Given the description of an element on the screen output the (x, y) to click on. 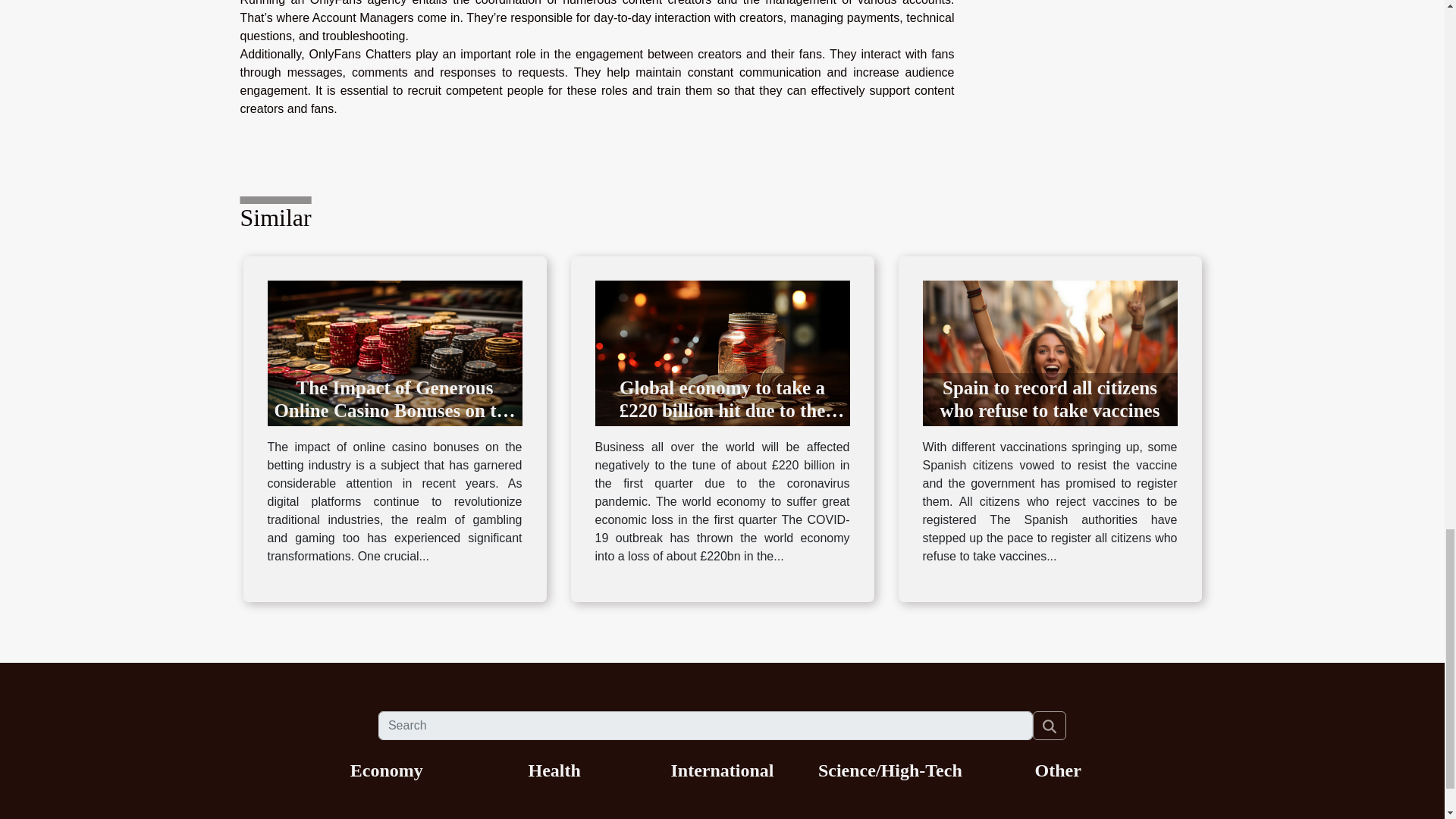
Economy (386, 770)
International (721, 770)
Economy (386, 770)
Health (553, 770)
International (721, 770)
Health (553, 770)
Spain to record all citizens who refuse to take vaccines (1048, 351)
